Given the description of an element on the screen output the (x, y) to click on. 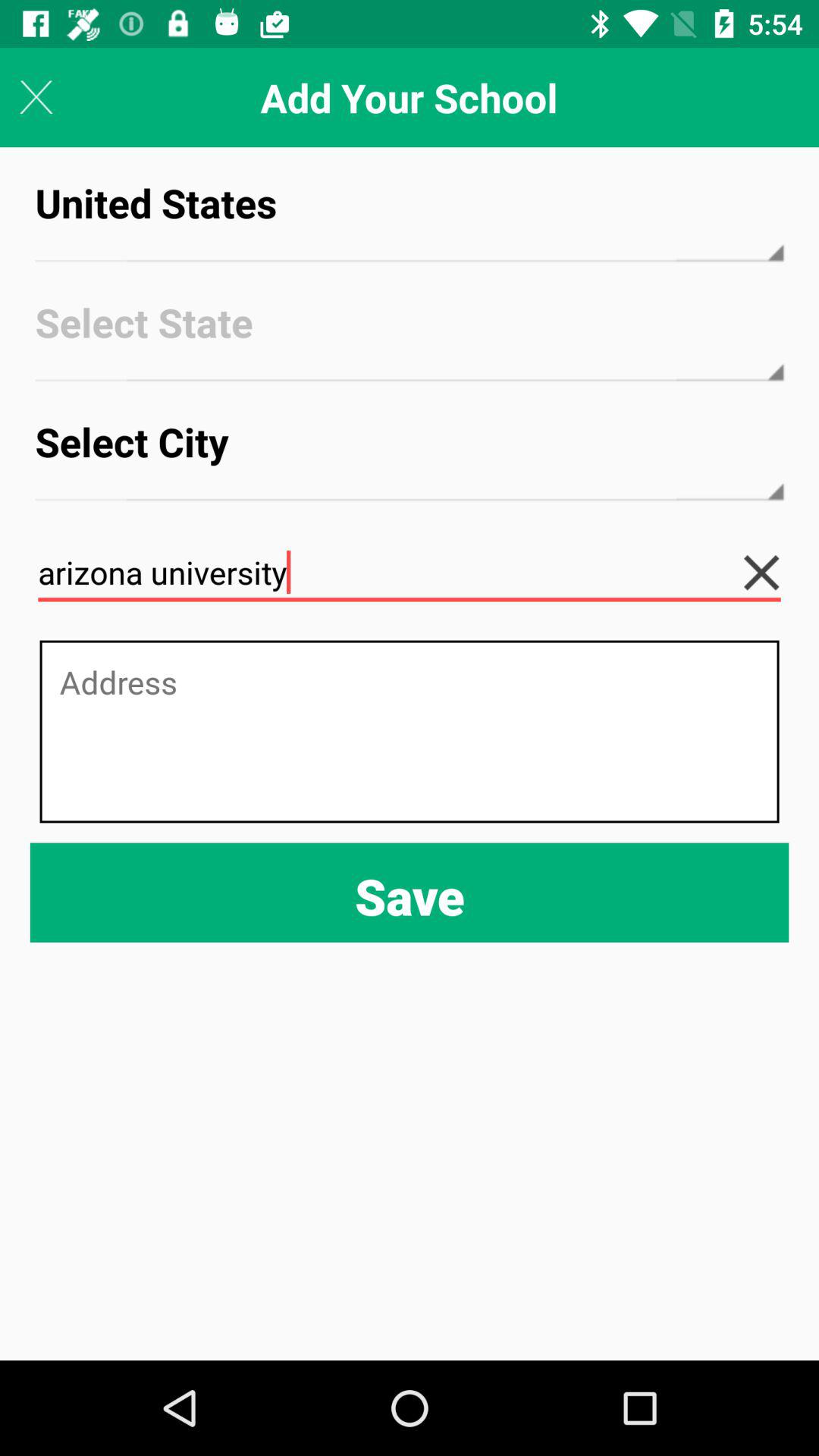
clear text (773, 572)
